Given the description of an element on the screen output the (x, y) to click on. 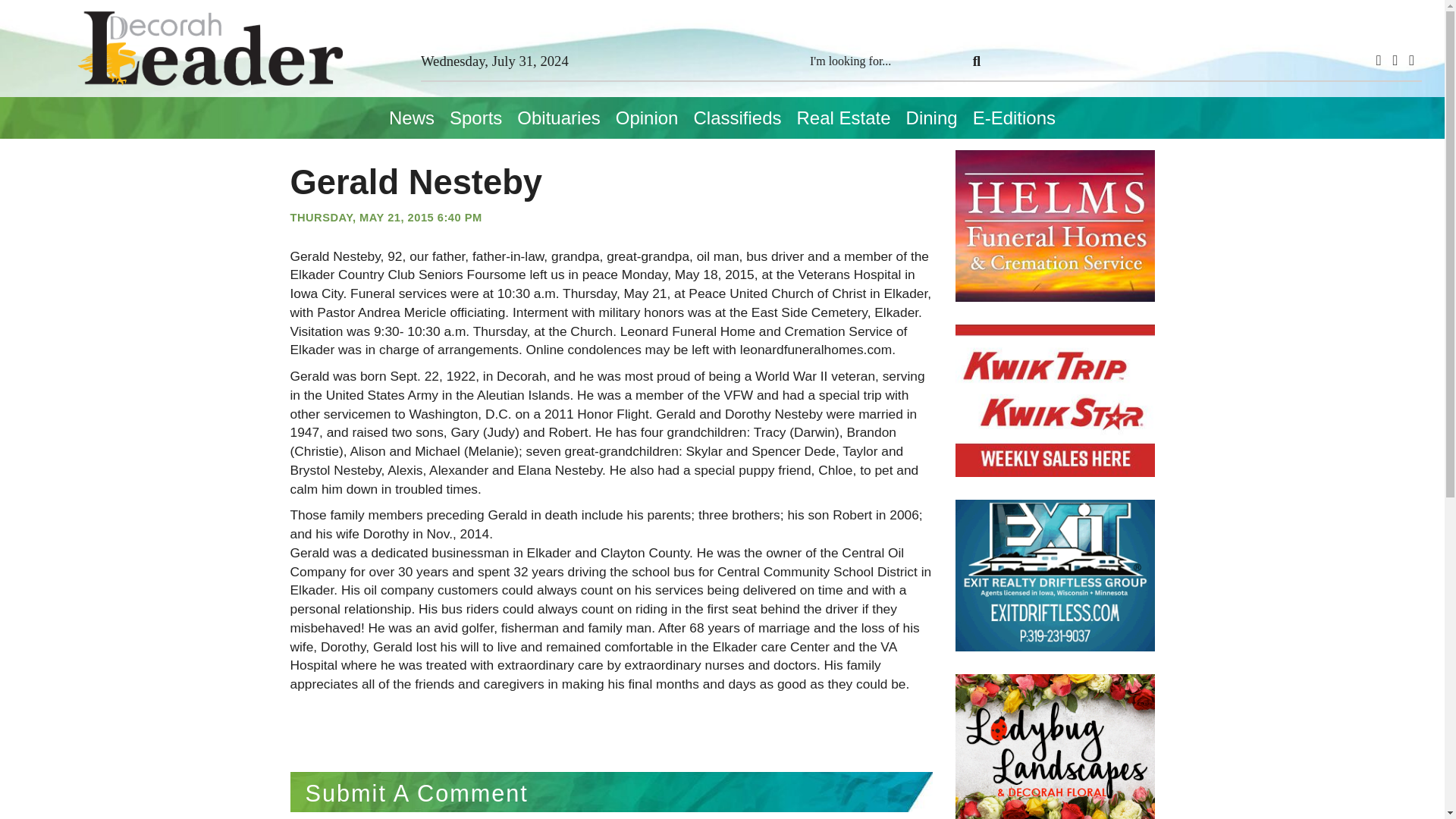
Dining (931, 117)
Real Estate (843, 117)
Sports (475, 117)
Opinion (646, 117)
Decorah Leader Logo (209, 48)
Search for: (884, 61)
Obituaries (558, 117)
Classifieds (737, 117)
E-Editions (1013, 117)
News (411, 117)
